Given the description of an element on the screen output the (x, y) to click on. 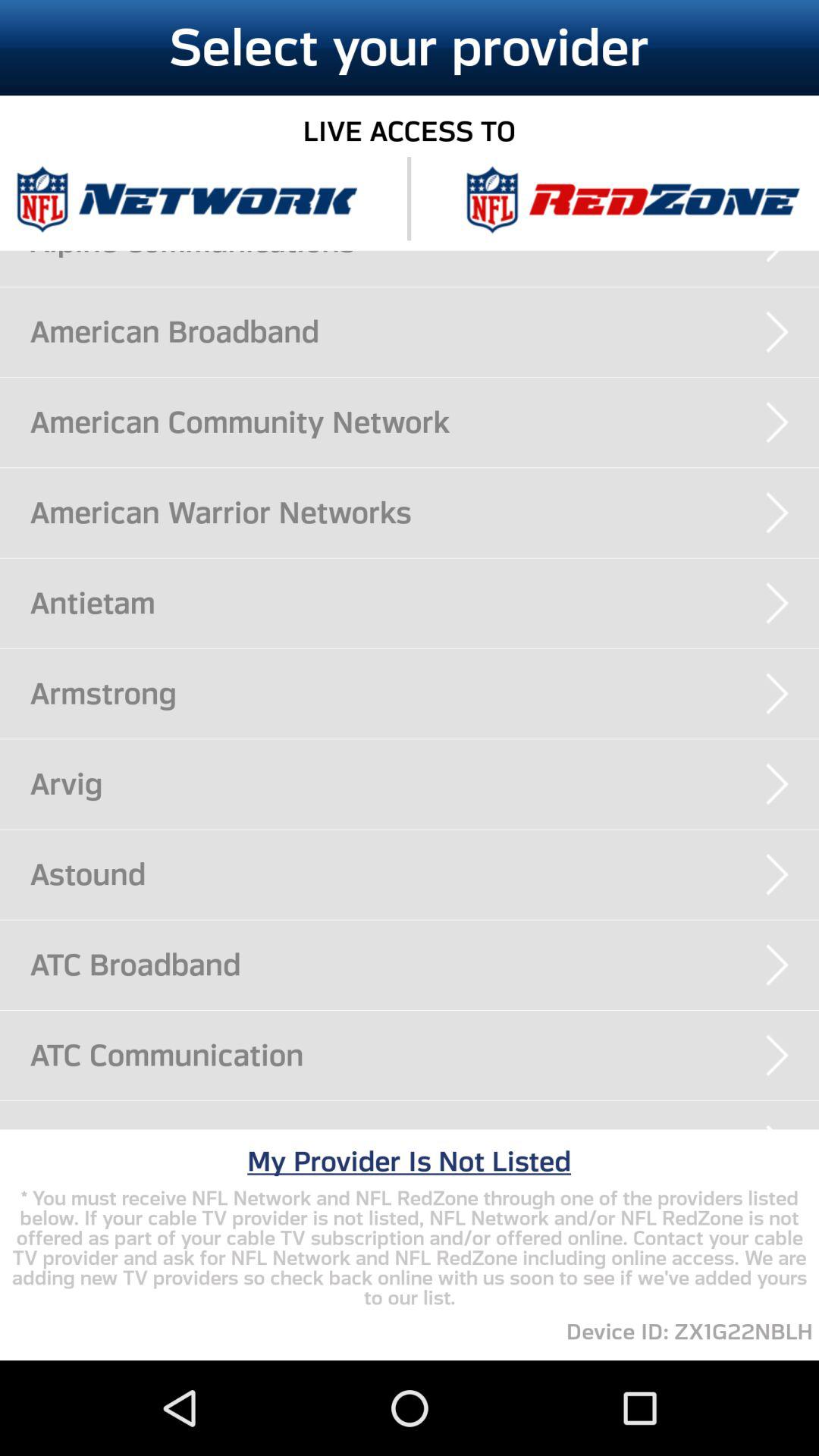
turn on the antietam icon (424, 602)
